Given the description of an element on the screen output the (x, y) to click on. 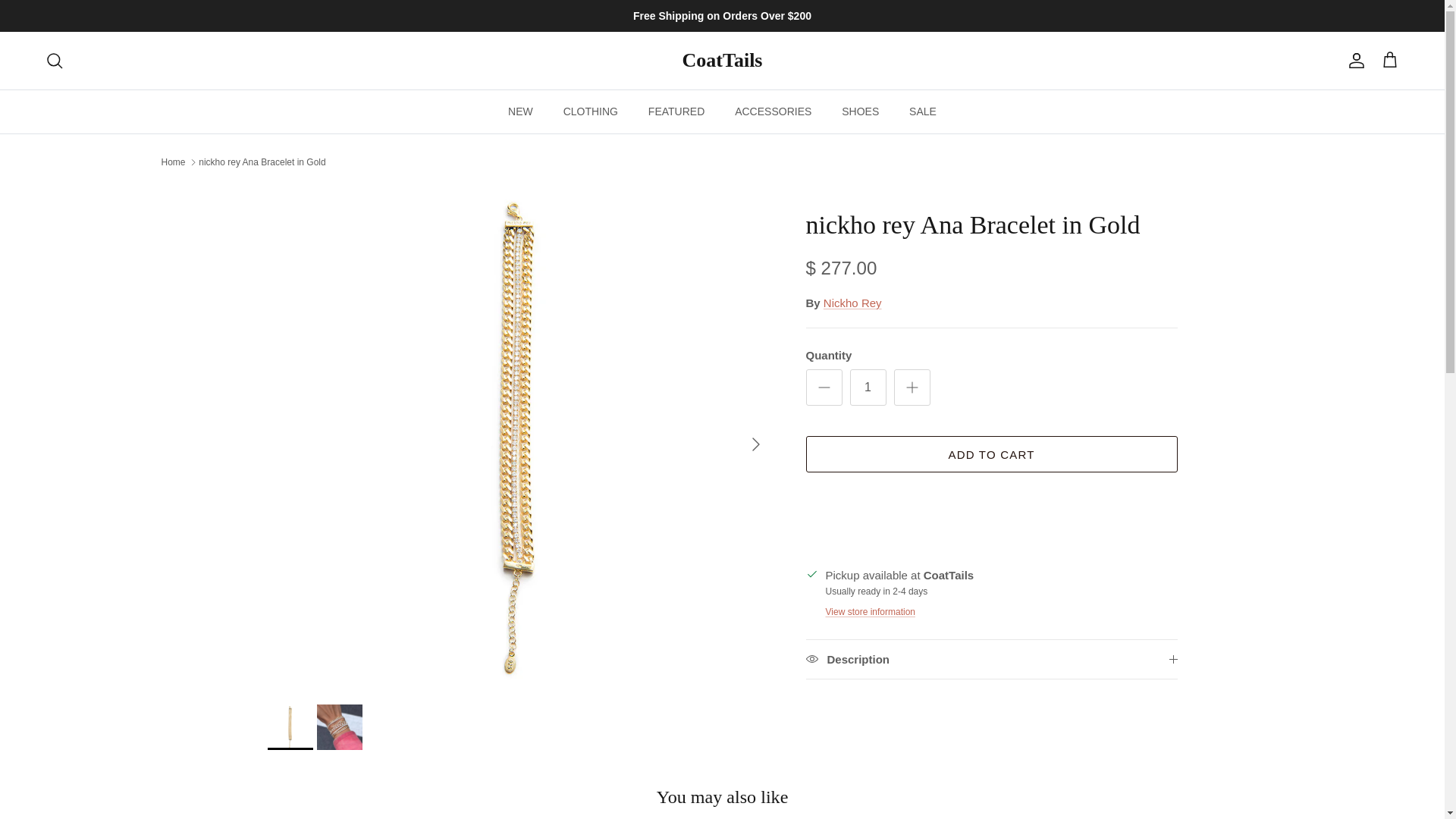
CLOTHING (590, 111)
CoatTails (722, 60)
Search (54, 60)
Account (1352, 60)
NEW (521, 111)
1 (866, 387)
CoatTails (722, 60)
Cart (1389, 60)
